Given the description of an element on the screen output the (x, y) to click on. 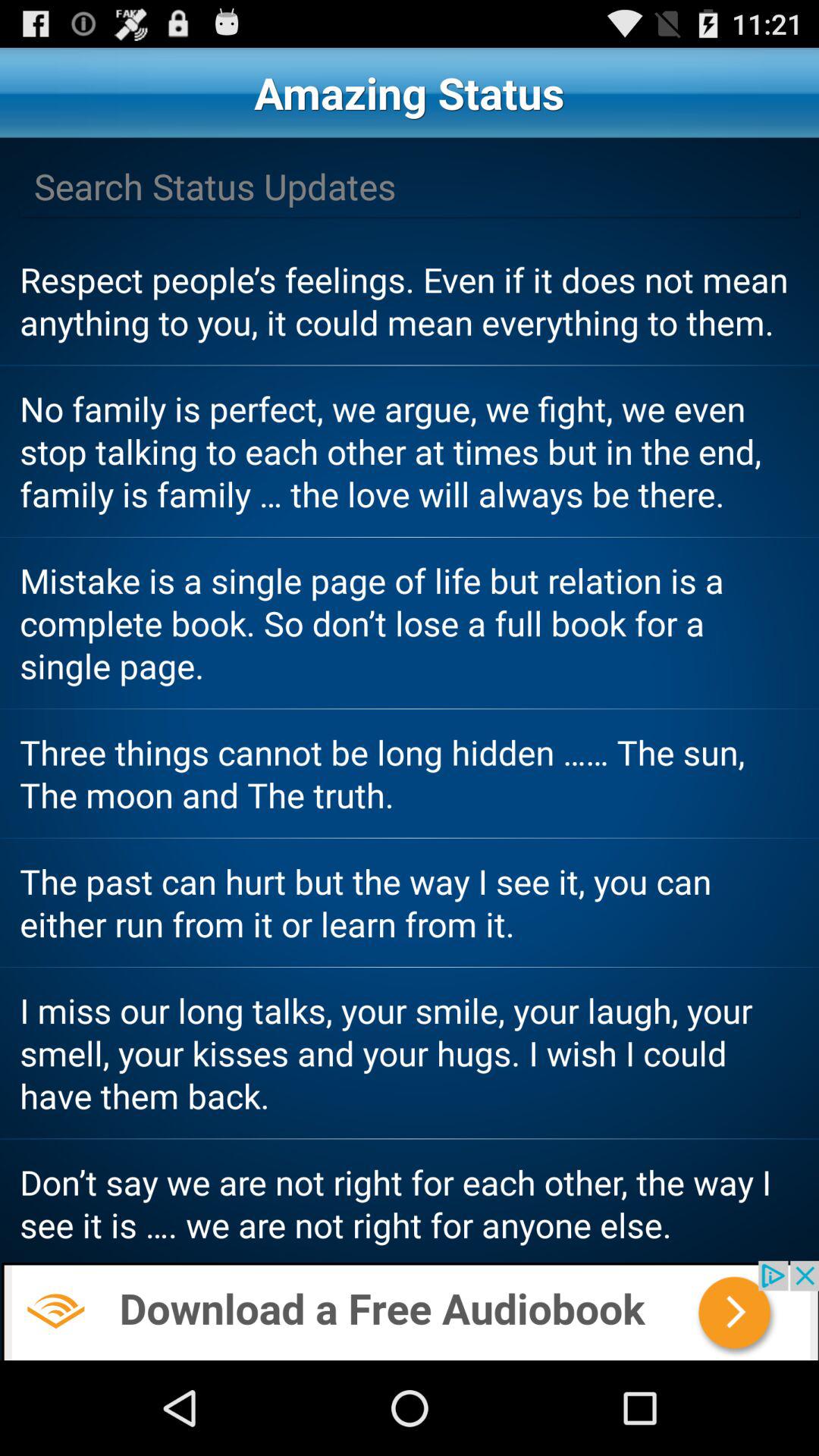
update button (409, 186)
